Given the description of an element on the screen output the (x, y) to click on. 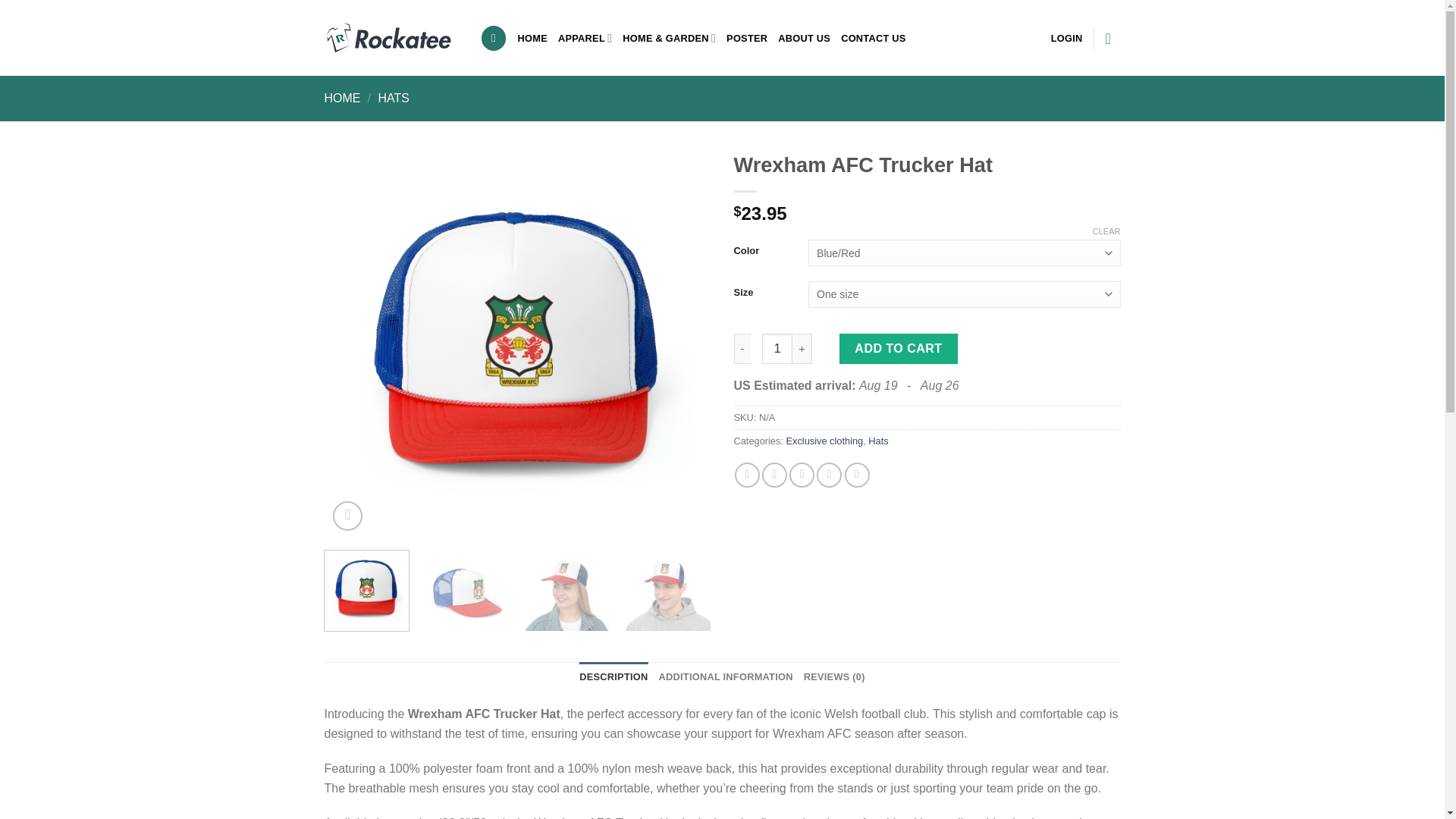
ABOUT US (803, 38)
APPAREL (584, 38)
POSTER (746, 38)
LOGIN (1067, 38)
HOME (342, 97)
1 (776, 348)
CONTACT US (873, 38)
HOME (532, 38)
